Given the description of an element on the screen output the (x, y) to click on. 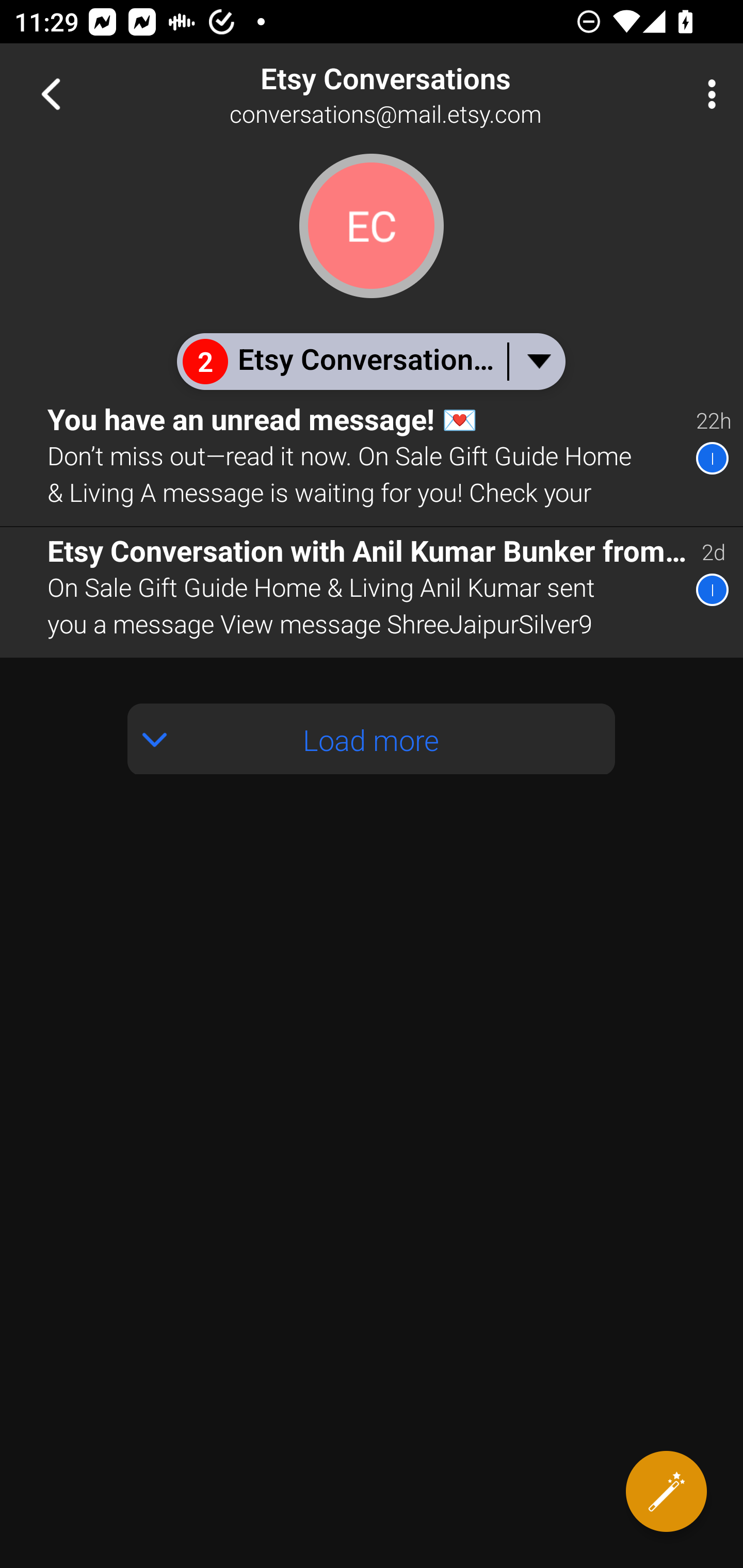
Navigate up (50, 93)
Etsy Conversations conversations@mail.etsy.com (436, 93)
More Options (706, 93)
2 Etsy Conversations & You (370, 361)
Load more (371, 739)
